Given the description of an element on the screen output the (x, y) to click on. 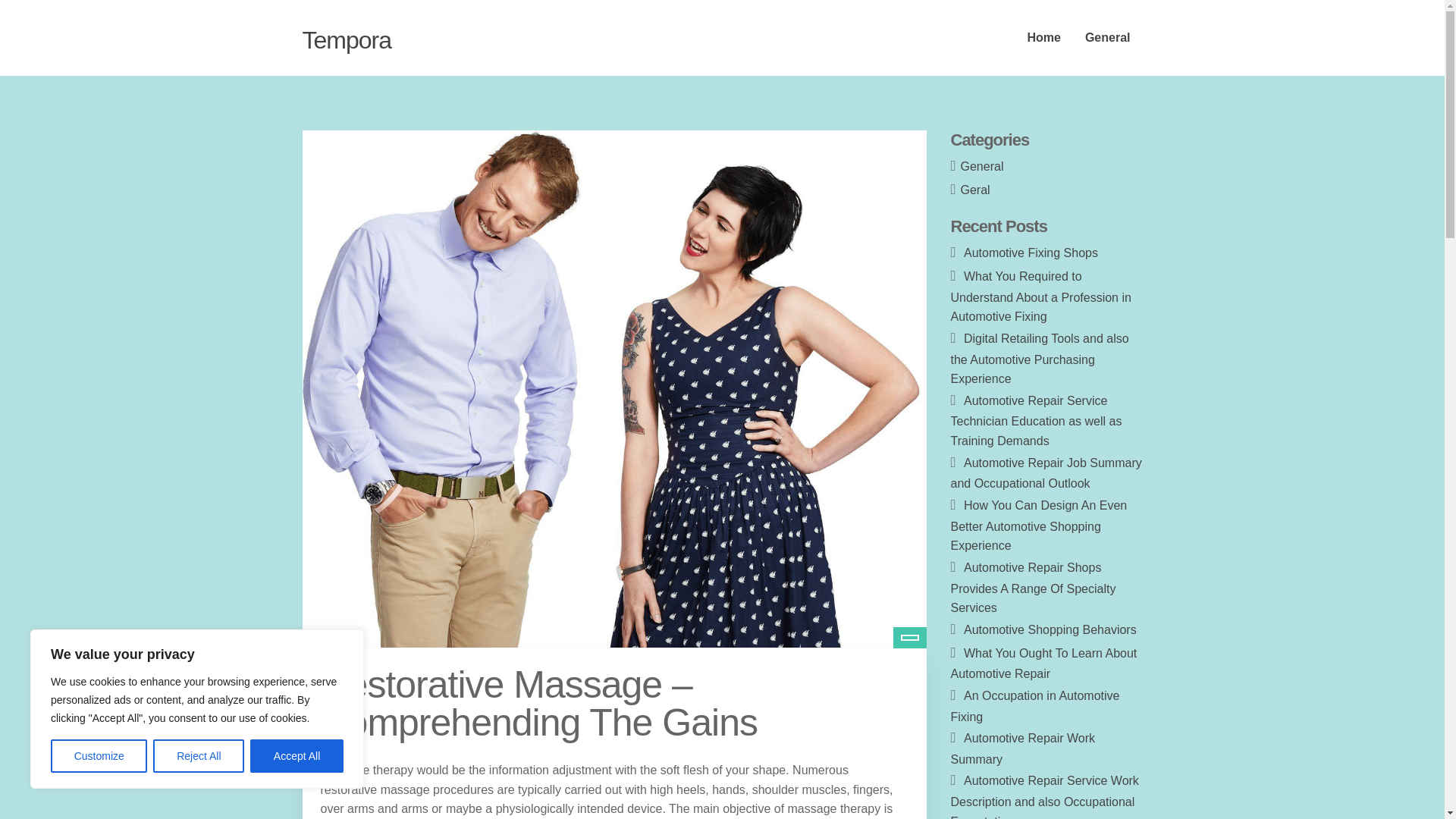
Geral (975, 189)
Home (1042, 37)
Tempora (346, 39)
Reject All (198, 756)
Automotive Fixing Shops (1030, 252)
Accept All (296, 756)
General (982, 165)
General (1107, 37)
Customize (98, 756)
